Given the description of an element on the screen output the (x, y) to click on. 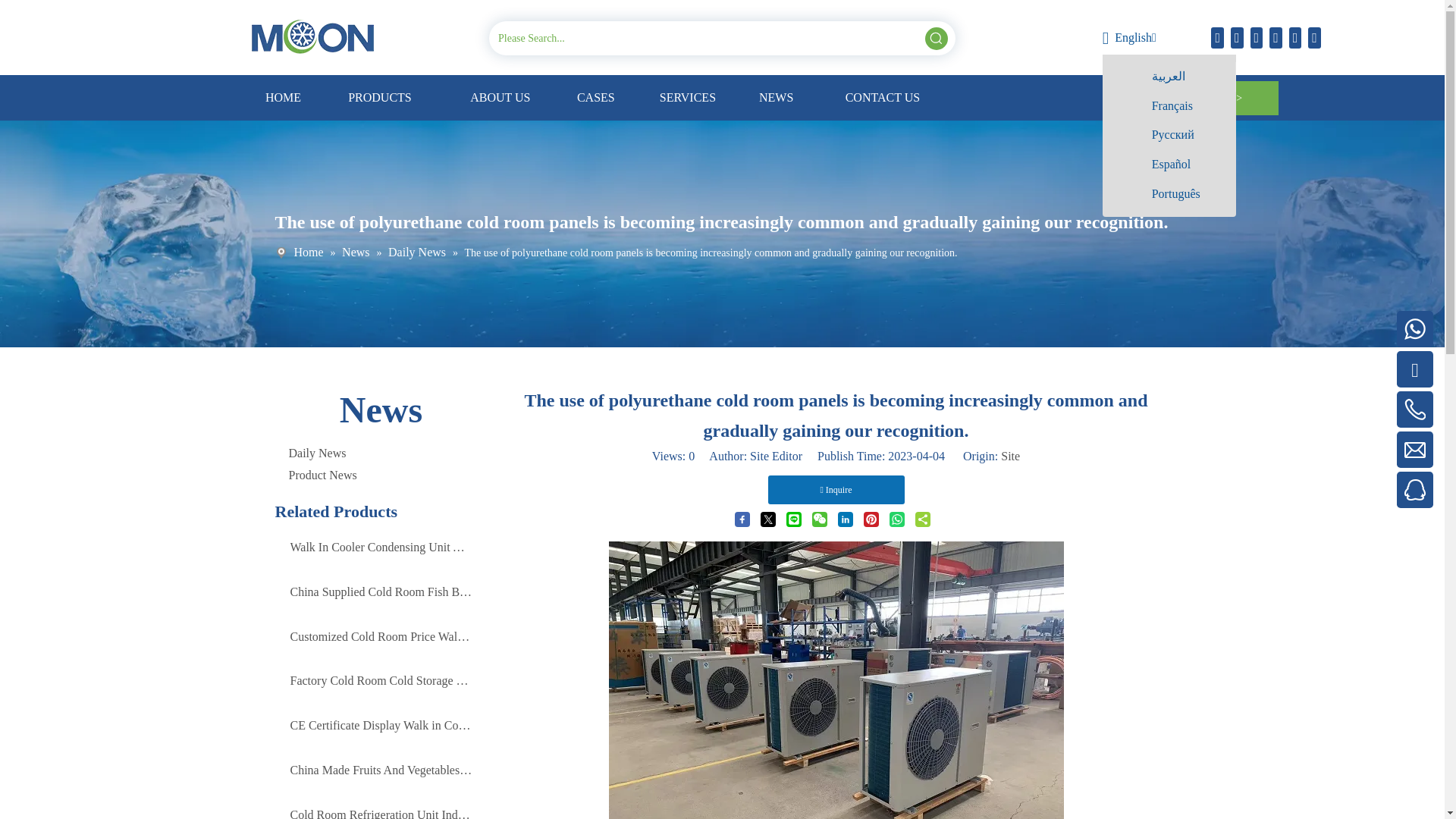
CASES (595, 97)
NEWS (775, 97)
CONTACT US (882, 97)
PRODUCTS (379, 97)
ABOUT US (500, 97)
SERVICES (686, 97)
HOME (283, 97)
